Given the description of an element on the screen output the (x, y) to click on. 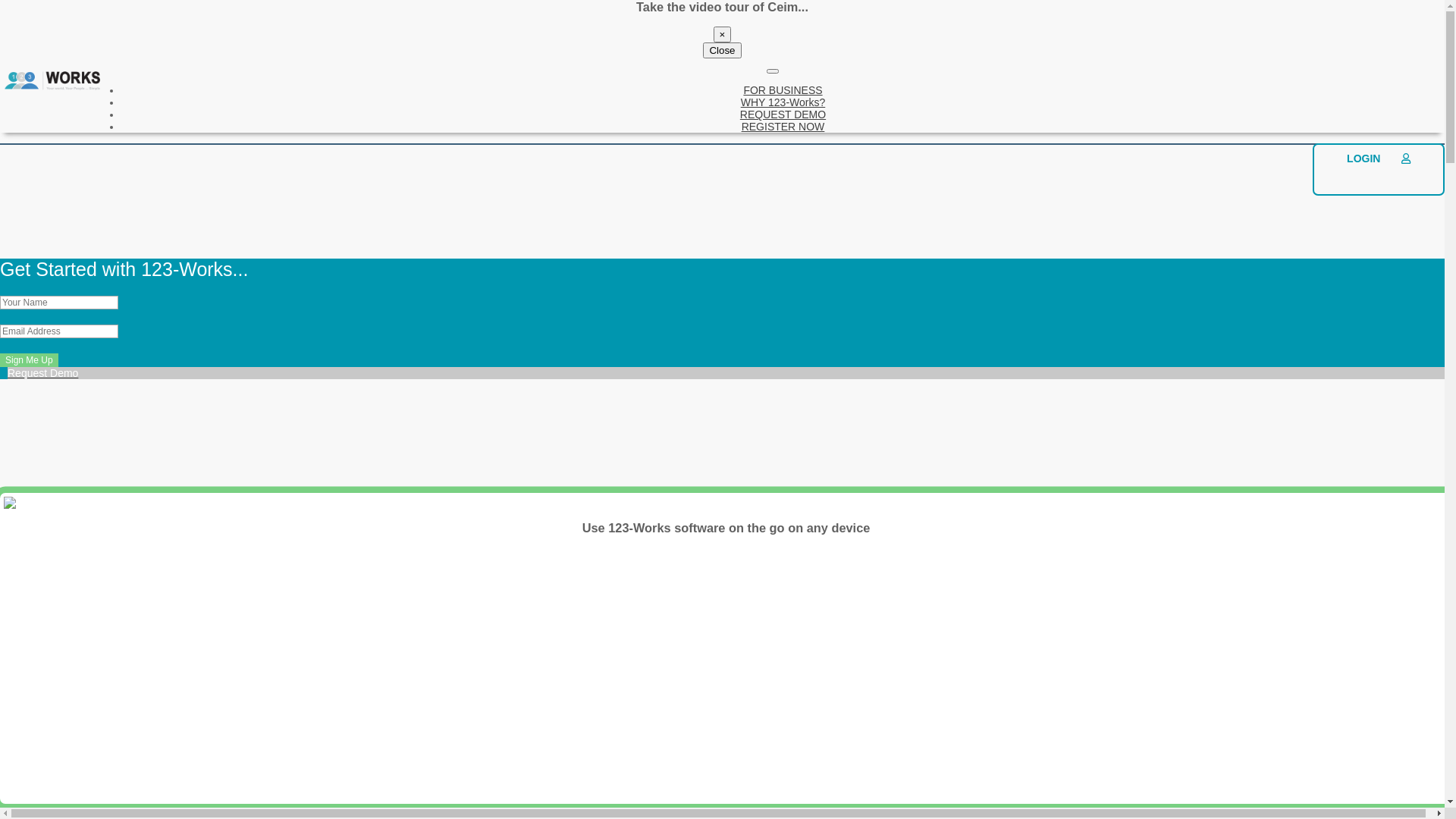
Request Demo Element type: text (722, 379)
Toggle navigation Element type: text (772, 71)
Sign Me Up Element type: text (29, 360)
WHY 123-Works? Element type: text (782, 102)
FOR BUSINESS Element type: text (782, 90)
REGISTER NOW Element type: text (783, 126)
REQUEST DEMO Element type: text (782, 114)
Close Element type: text (721, 50)
